Given the description of an element on the screen output the (x, y) to click on. 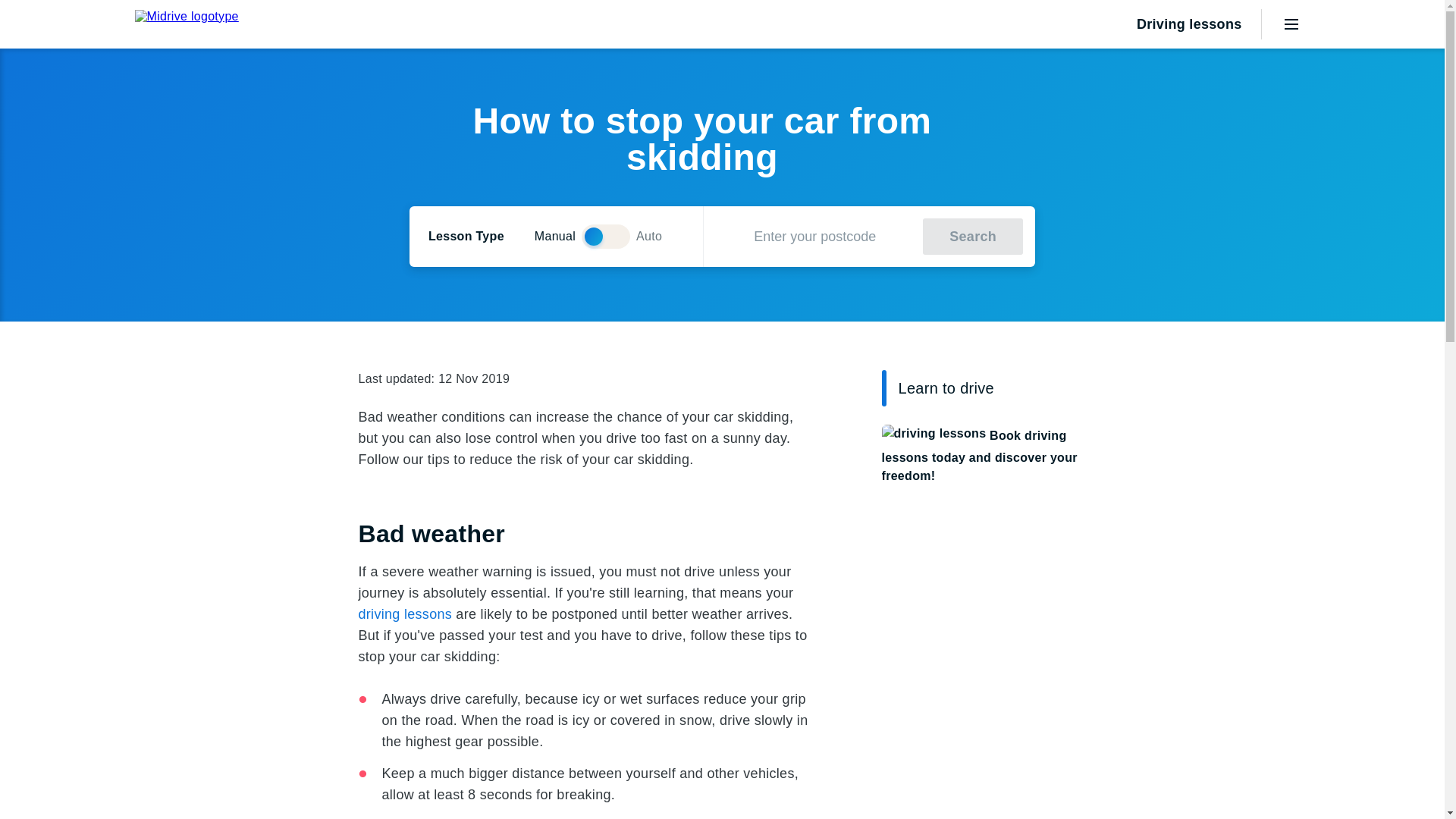
Driving lessons (1175, 24)
Book driving lessons today and discover your freedom! (983, 455)
Search (973, 236)
Menu (1291, 24)
driving lessons (404, 613)
